Given the description of an element on the screen output the (x, y) to click on. 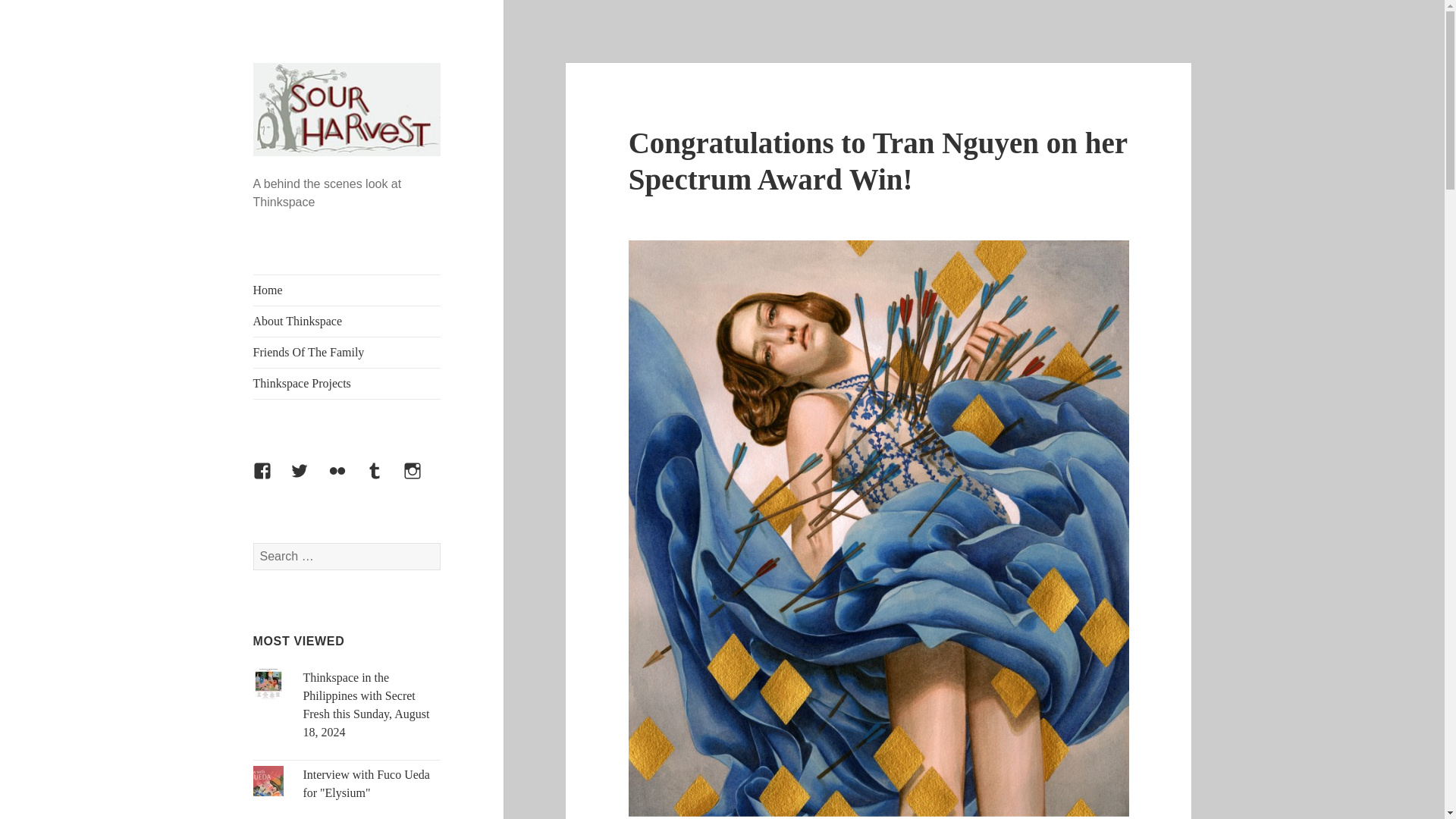
Friends Of The Family (347, 352)
Facebook (271, 479)
Interview with Fuco Ueda for "Elysium" (365, 783)
Instagram (421, 479)
About Thinkspace (347, 321)
Interview with Fuco Ueda for "Elysium" (365, 783)
tumblr (383, 479)
